Given the description of an element on the screen output the (x, y) to click on. 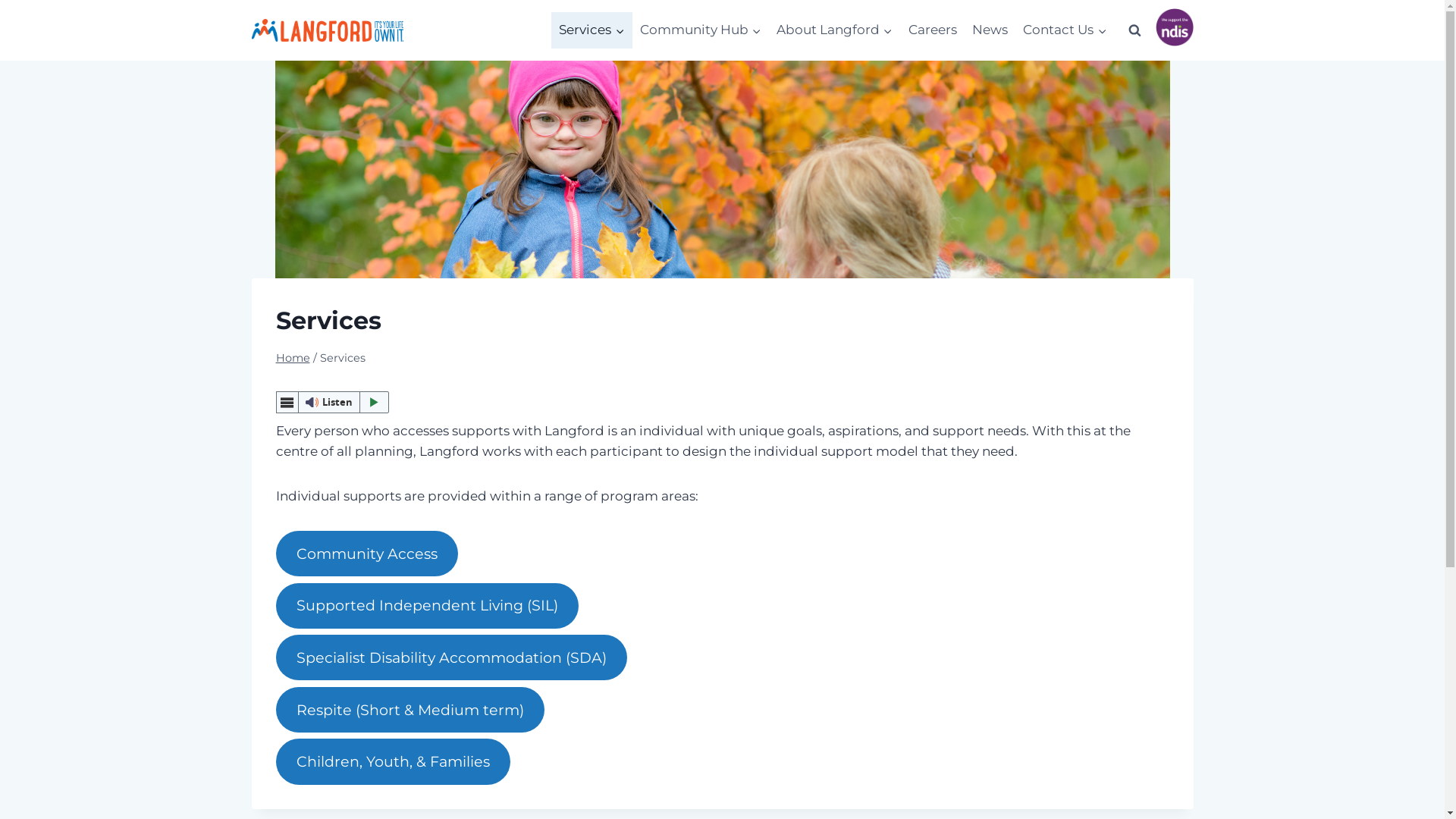
Supported Independent Living (SIL) Element type: text (427, 605)
Careers Element type: text (931, 30)
About Langford Element type: text (834, 30)
News Element type: text (989, 30)
Specialist Disability Accommodation (SDA) Element type: text (451, 657)
webReader menu Element type: hover (287, 401)
Children, Youth, & Families Element type: text (393, 761)
Home Element type: text (293, 357)
Respite (Short & Medium term) Element type: text (410, 709)
Community Access Element type: text (367, 553)
Contact Us Element type: text (1064, 30)
Listen Element type: text (332, 401)
Services Element type: text (591, 30)
Community Hub Element type: text (700, 30)
